Given the description of an element on the screen output the (x, y) to click on. 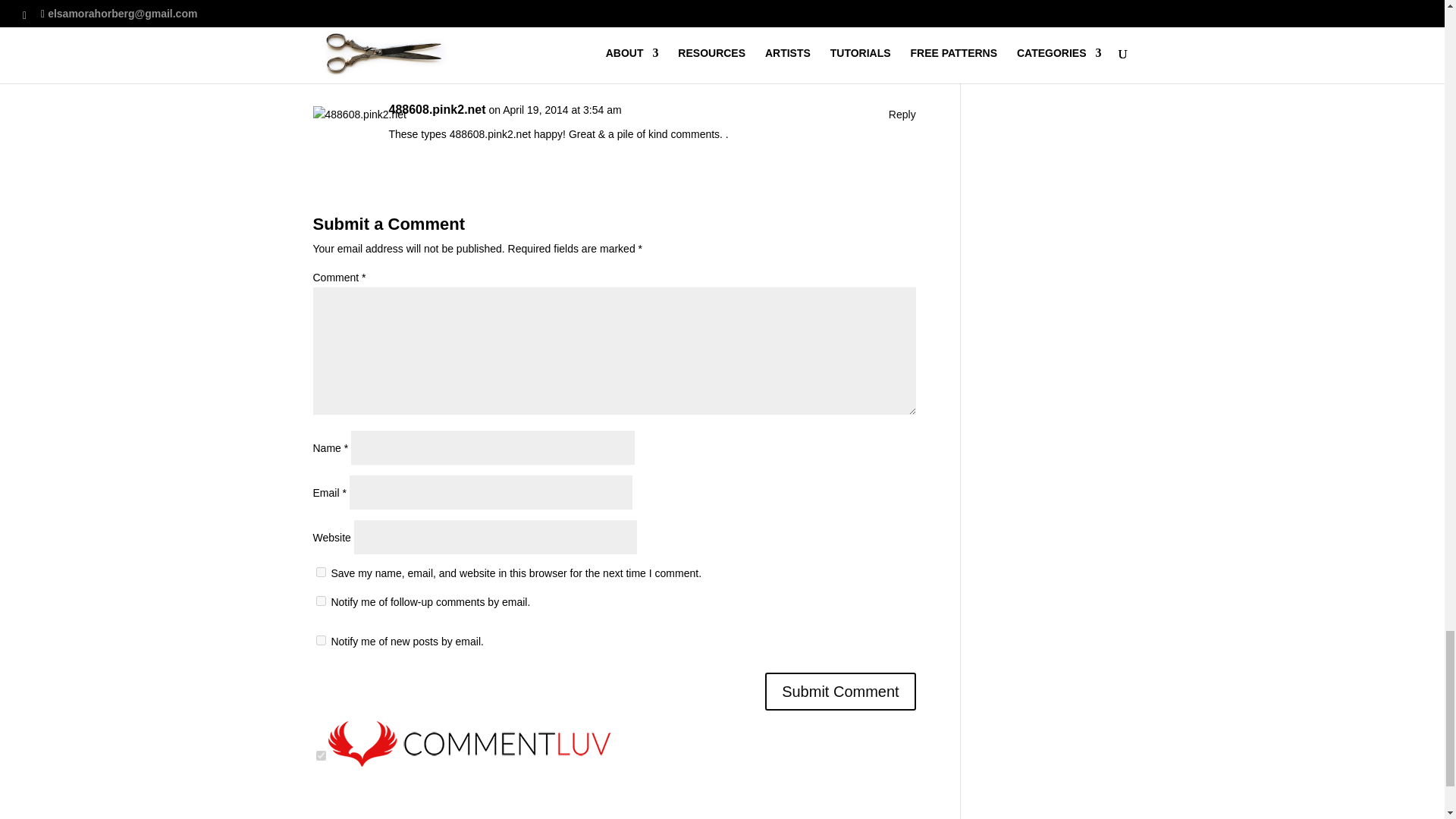
Submit Comment (840, 691)
on (319, 755)
yes (319, 572)
subscribe (319, 640)
subscribe (319, 601)
CommentLuv is enabled (468, 756)
